Given the description of an element on the screen output the (x, y) to click on. 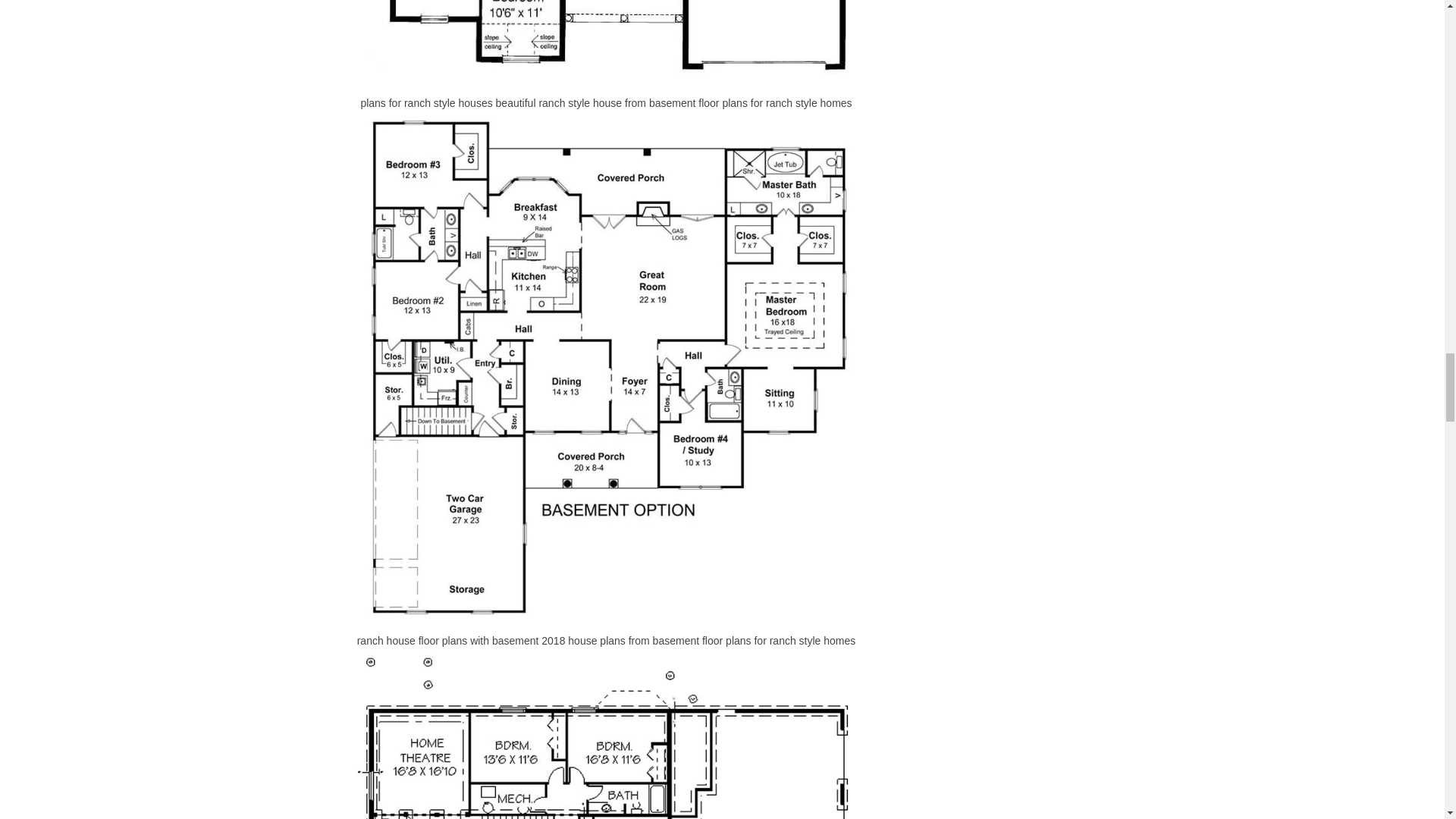
plans for ranch style houses beautiful ranch style house (607, 42)
ranch house basement floor plans house design plans (607, 734)
